Given the description of an element on the screen output the (x, y) to click on. 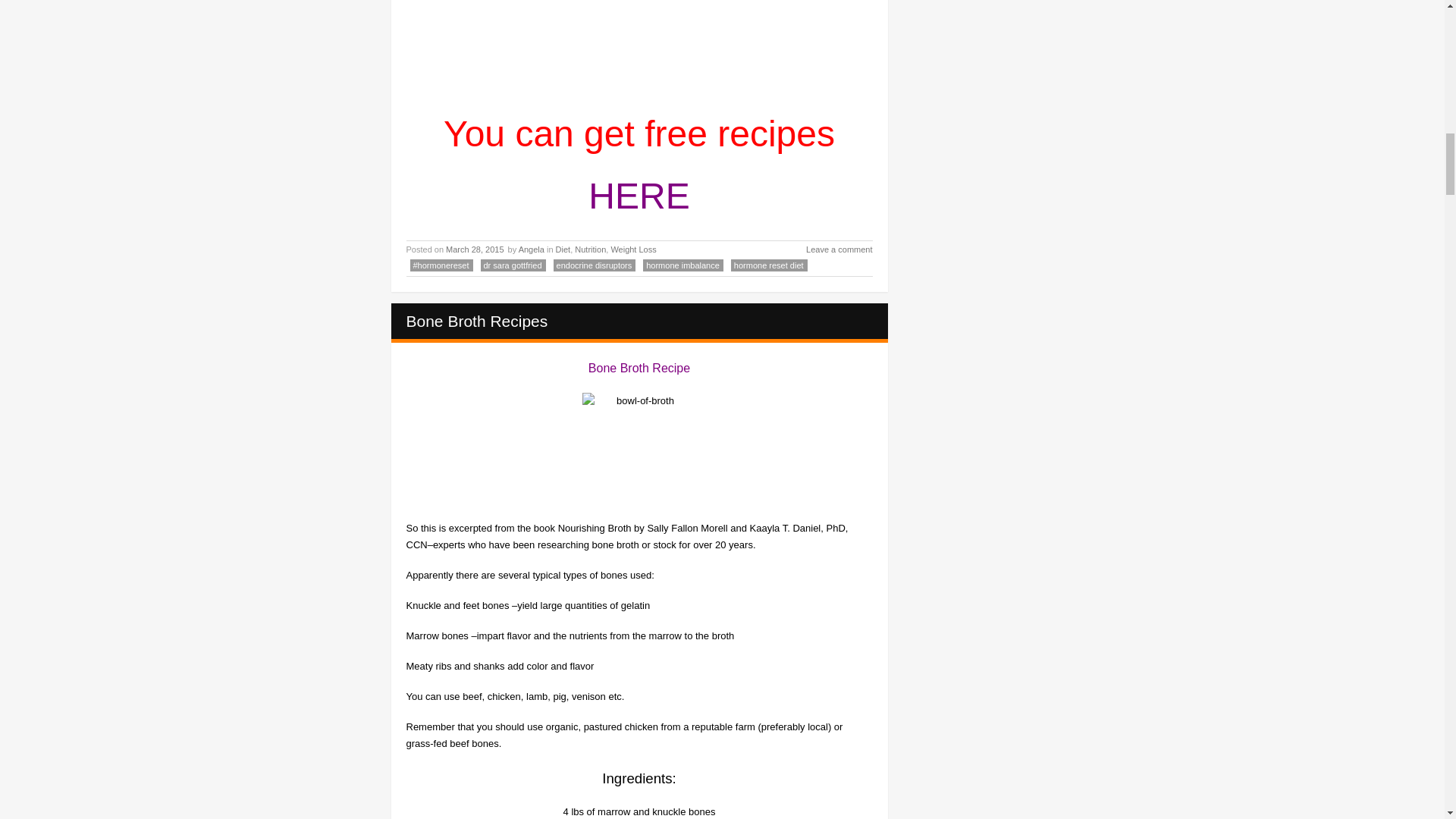
hormone imbalance (683, 265)
March 28, 2015 (475, 248)
Leave a comment (830, 250)
View all posts by Angela (531, 248)
Read Bone Broth Recipes (477, 321)
Angela (531, 248)
Diet (563, 248)
Nutrition (590, 248)
endocrine disruptors (594, 265)
5:47 pm (475, 248)
